Given the description of an element on the screen output the (x, y) to click on. 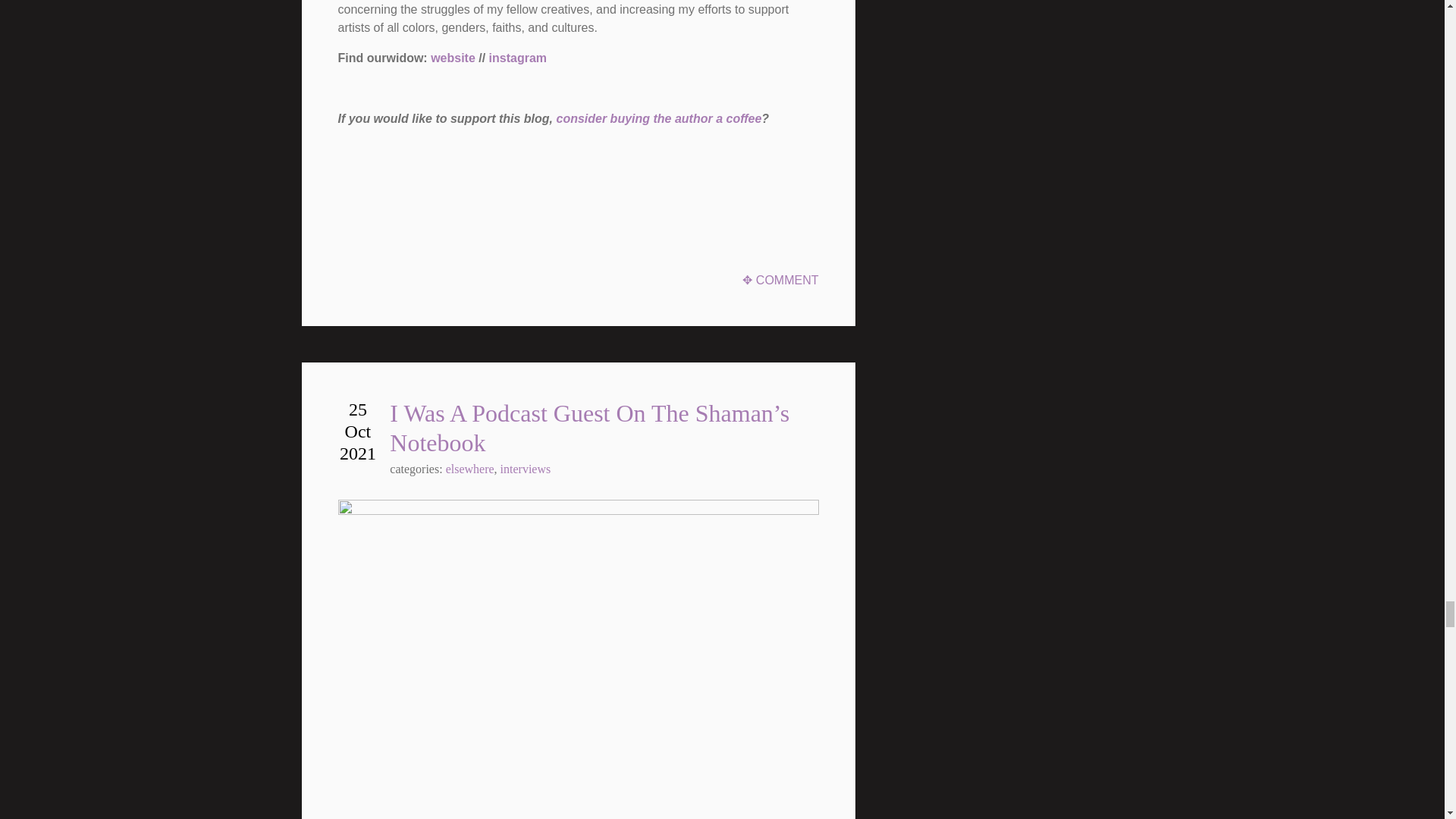
Patreon Widget (451, 196)
